Given the description of an element on the screen output the (x, y) to click on. 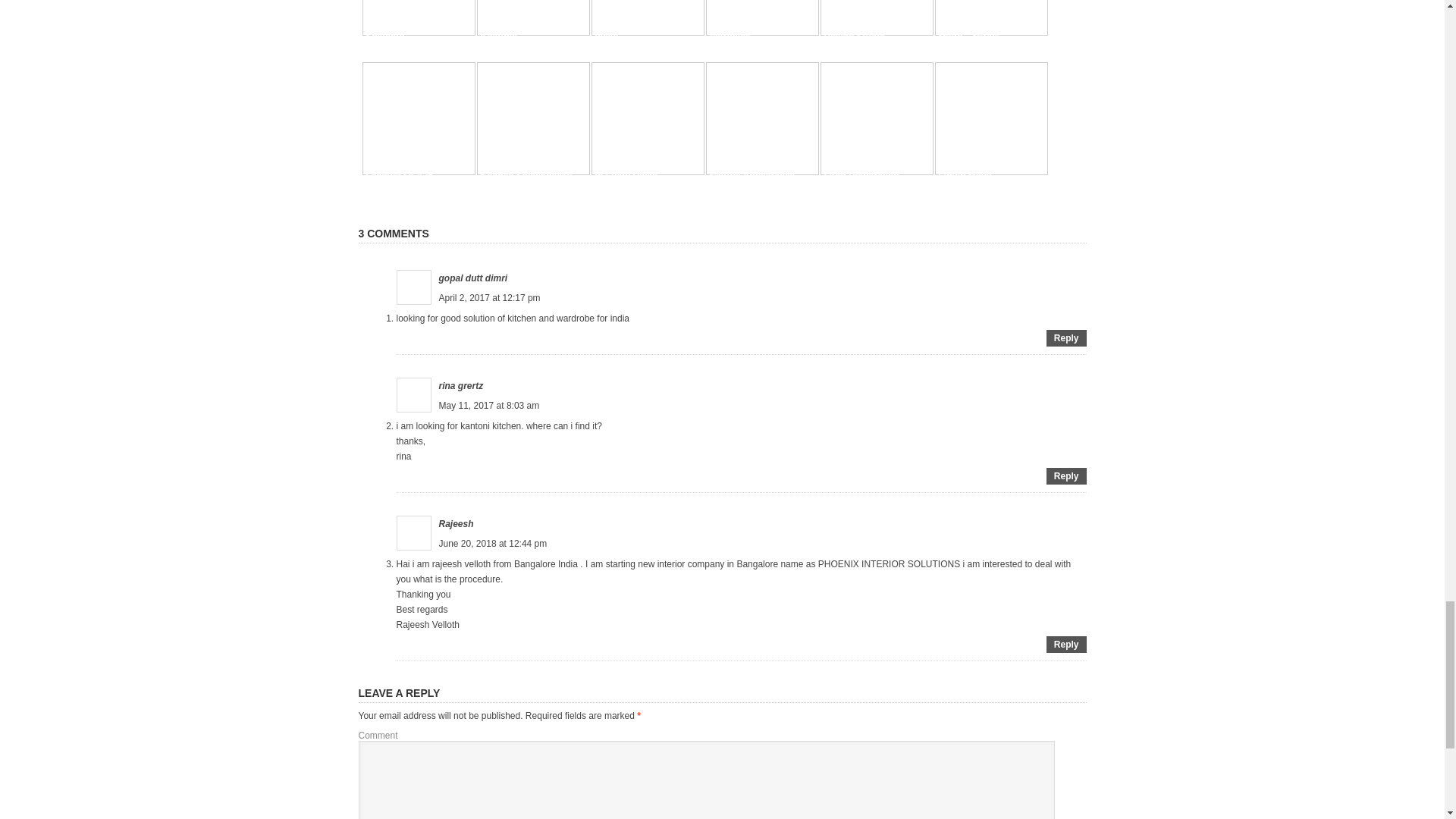
Corian Modern Luxury Kitchen And Marble IOstudio. (529, 20)
